Given the description of an element on the screen output the (x, y) to click on. 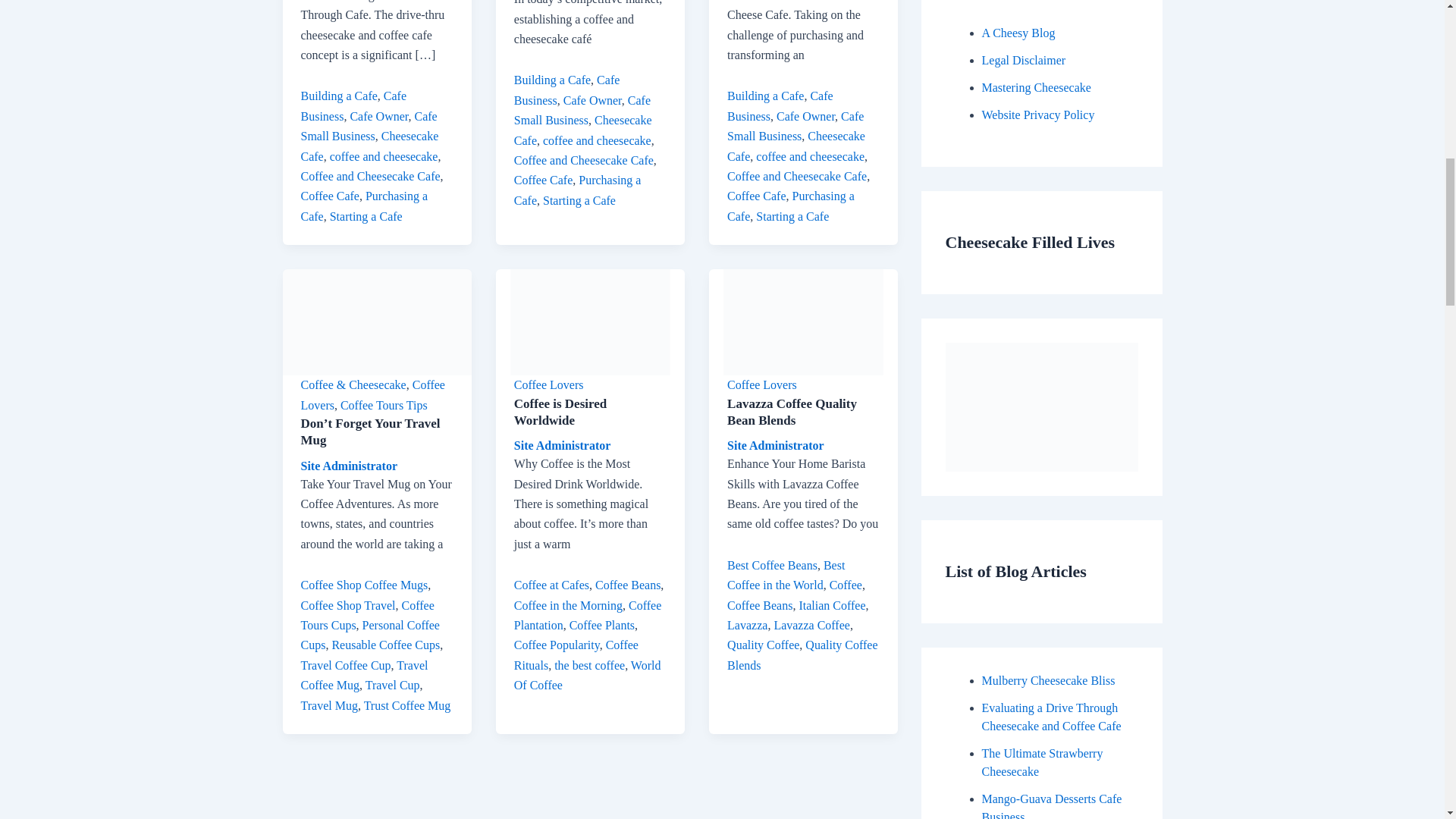
View all posts by Site Administrator (348, 465)
View all posts by Site Administrator (562, 445)
View all posts by Site Administrator (775, 445)
